Given the description of an element on the screen output the (x, y) to click on. 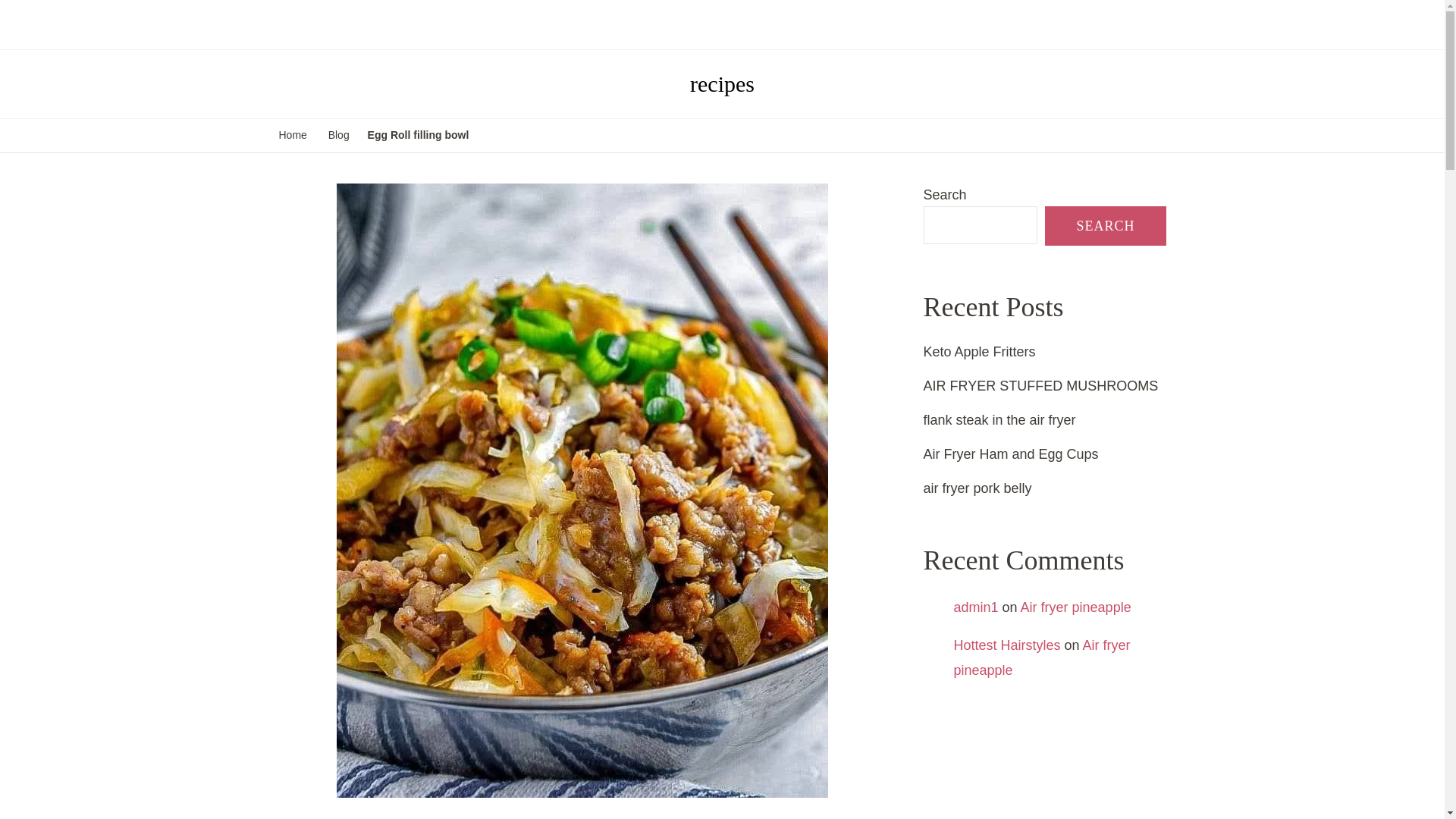
Blog (339, 135)
AIR FRYER STUFFED MUSHROOMS (1040, 385)
Home (293, 135)
Keto Apple Fritters (979, 351)
SEARCH (1105, 225)
Air fryer pineapple (1042, 657)
Air Fryer Ham and Egg Cups (1011, 453)
Hottest Hairstyles (1007, 645)
admin1 (975, 607)
Air fryer pineapple (1075, 607)
